Given the description of an element on the screen output the (x, y) to click on. 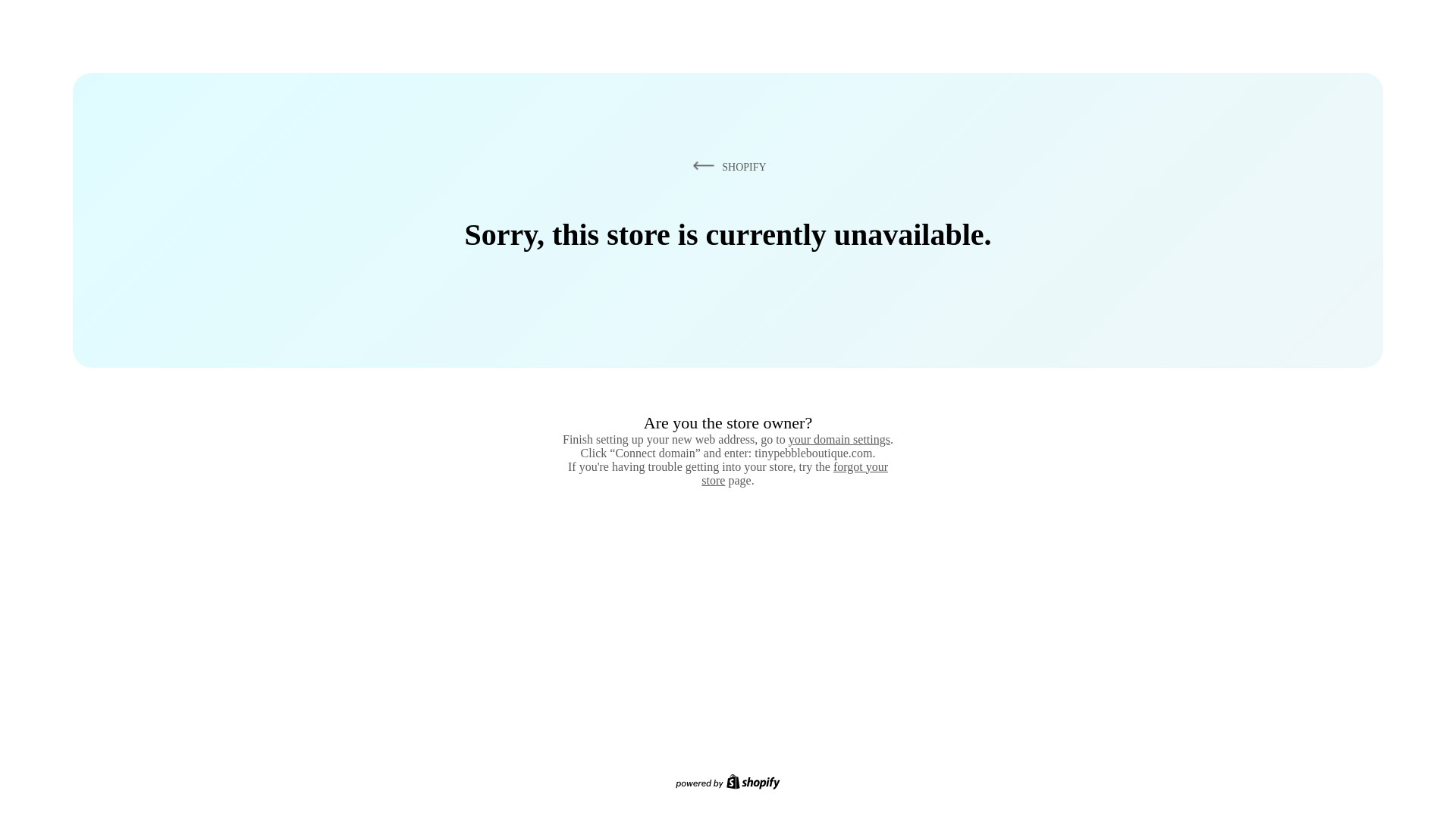
your domain settings (839, 439)
forgot your store (794, 473)
SHOPIFY (726, 166)
